Given the description of an element on the screen output the (x, y) to click on. 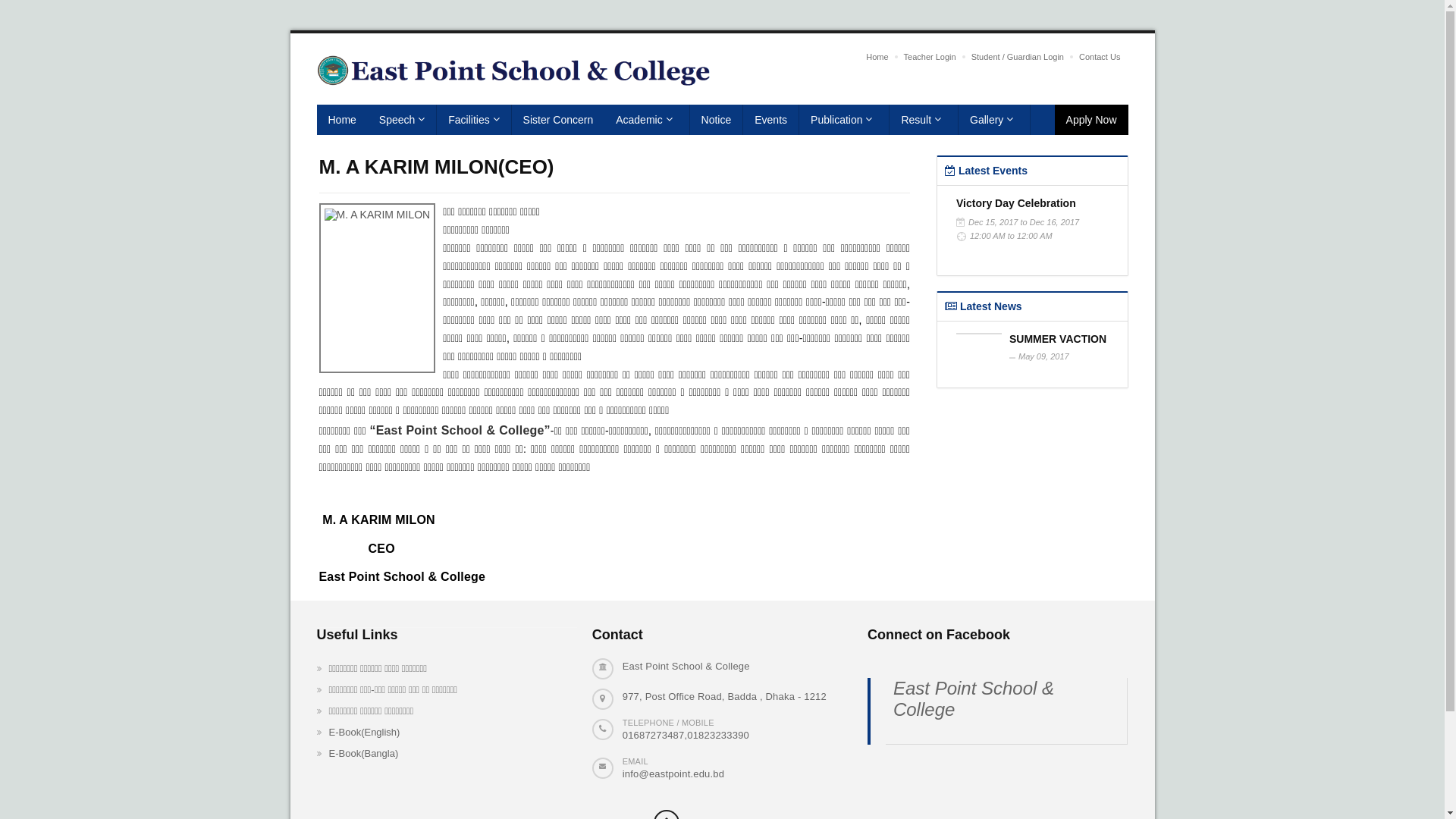
Teacher Login Element type: text (929, 56)
Apply Now Element type: text (1091, 119)
E-Book(Bangla) Element type: text (427, 753)
info@eastpoint.edu.bd Element type: text (673, 773)
Publication Element type: text (844, 119)
Victory Day Celebration Element type: text (1016, 203)
Result Element type: text (923, 119)
Academic Element type: text (646, 119)
Notice Element type: text (716, 119)
Events Element type: text (771, 119)
Home Element type: text (341, 119)
Home Element type: text (876, 56)
Contact Us Element type: text (1099, 56)
Gallery Element type: text (994, 119)
SUMMER VACTION Element type: text (1057, 338)
Speech Element type: text (401, 119)
Student / Guardian Login Element type: text (1017, 56)
Sister Concern Element type: text (558, 119)
East Point School & College Element type: text (973, 698)
Facilities Element type: text (473, 119)
E-Book(English) Element type: text (427, 732)
